Given the description of an element on the screen output the (x, y) to click on. 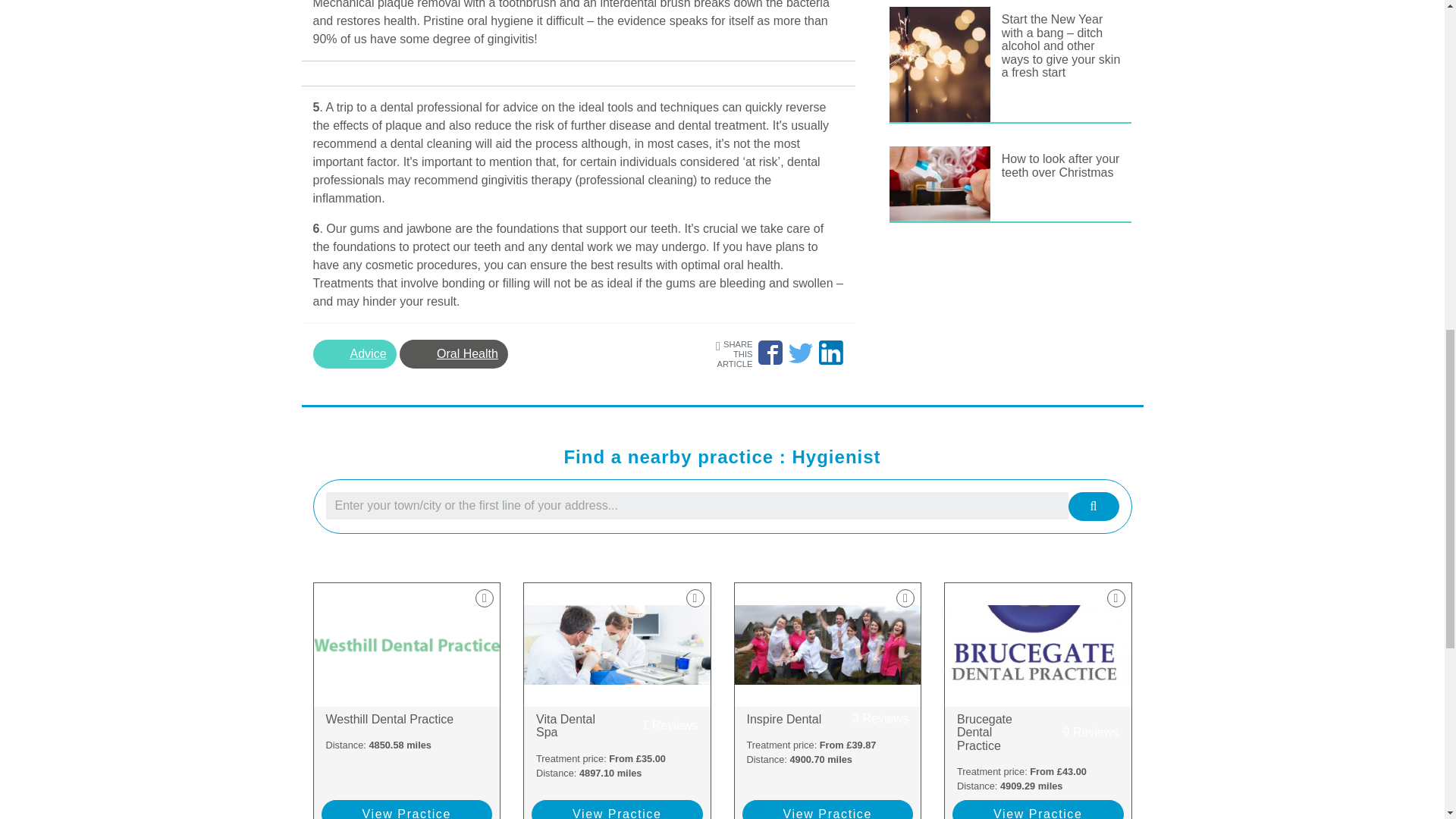
How to look after your teeth over Christmas (617, 725)
View Practice (826, 719)
Advice (1061, 165)
Share article on Facebook (617, 809)
Oral Health (354, 353)
Westhill Dental Practice (770, 352)
View Practice (453, 353)
Share article on LinkedIn (407, 719)
View Practice (407, 809)
Share article on Twitter (830, 352)
